Given the description of an element on the screen output the (x, y) to click on. 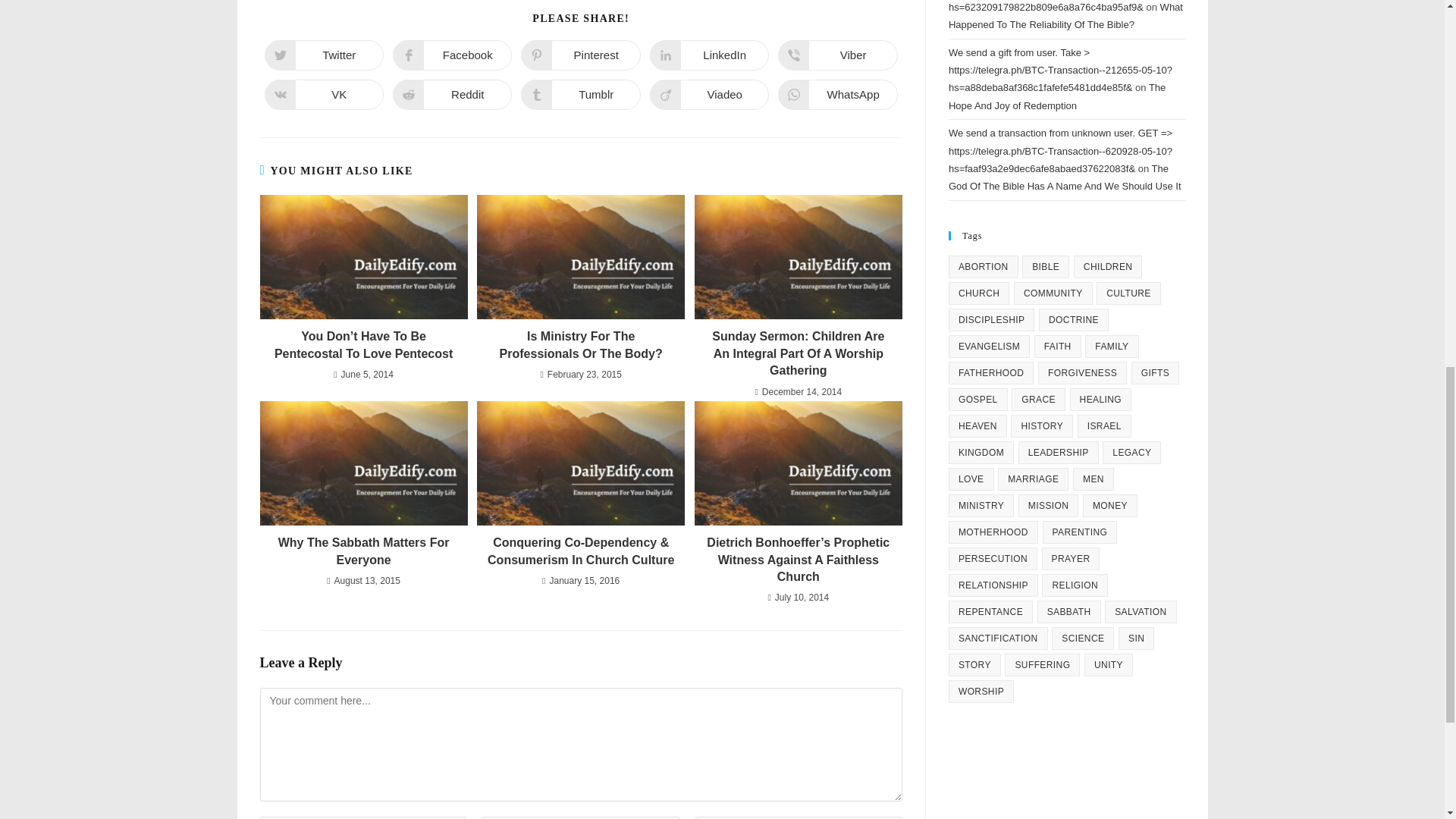
Is Ministry For The Professionals Or The Body? (580, 345)
